Given the description of an element on the screen output the (x, y) to click on. 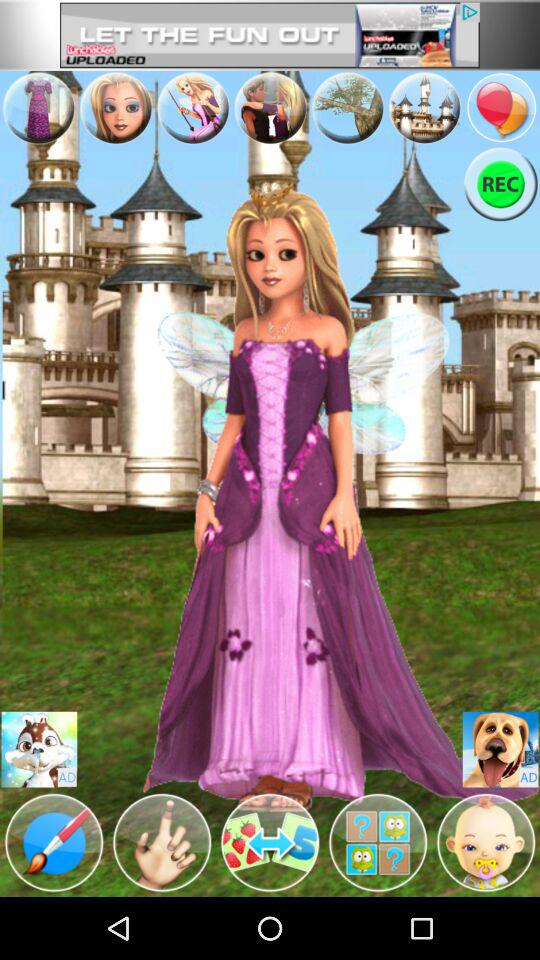
choose caracterer (39, 749)
